Given the description of an element on the screen output the (x, y) to click on. 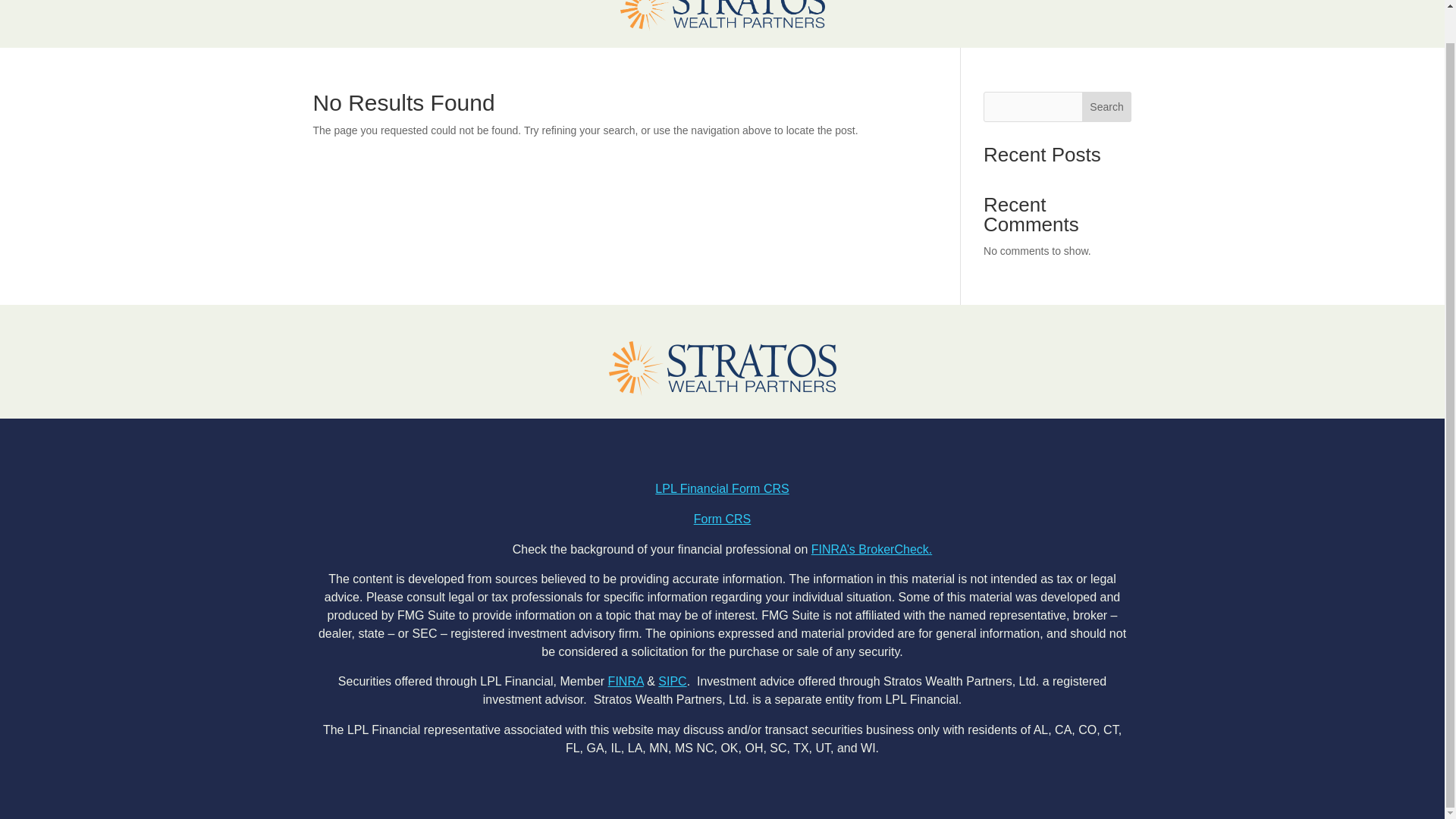
stratos-1024x245-1 (721, 368)
FINRA (625, 680)
stratos (722, 15)
LPL Financial Form CRS (722, 488)
SIPC (671, 680)
Search (1106, 106)
Form CRS (722, 518)
